Given the description of an element on the screen output the (x, y) to click on. 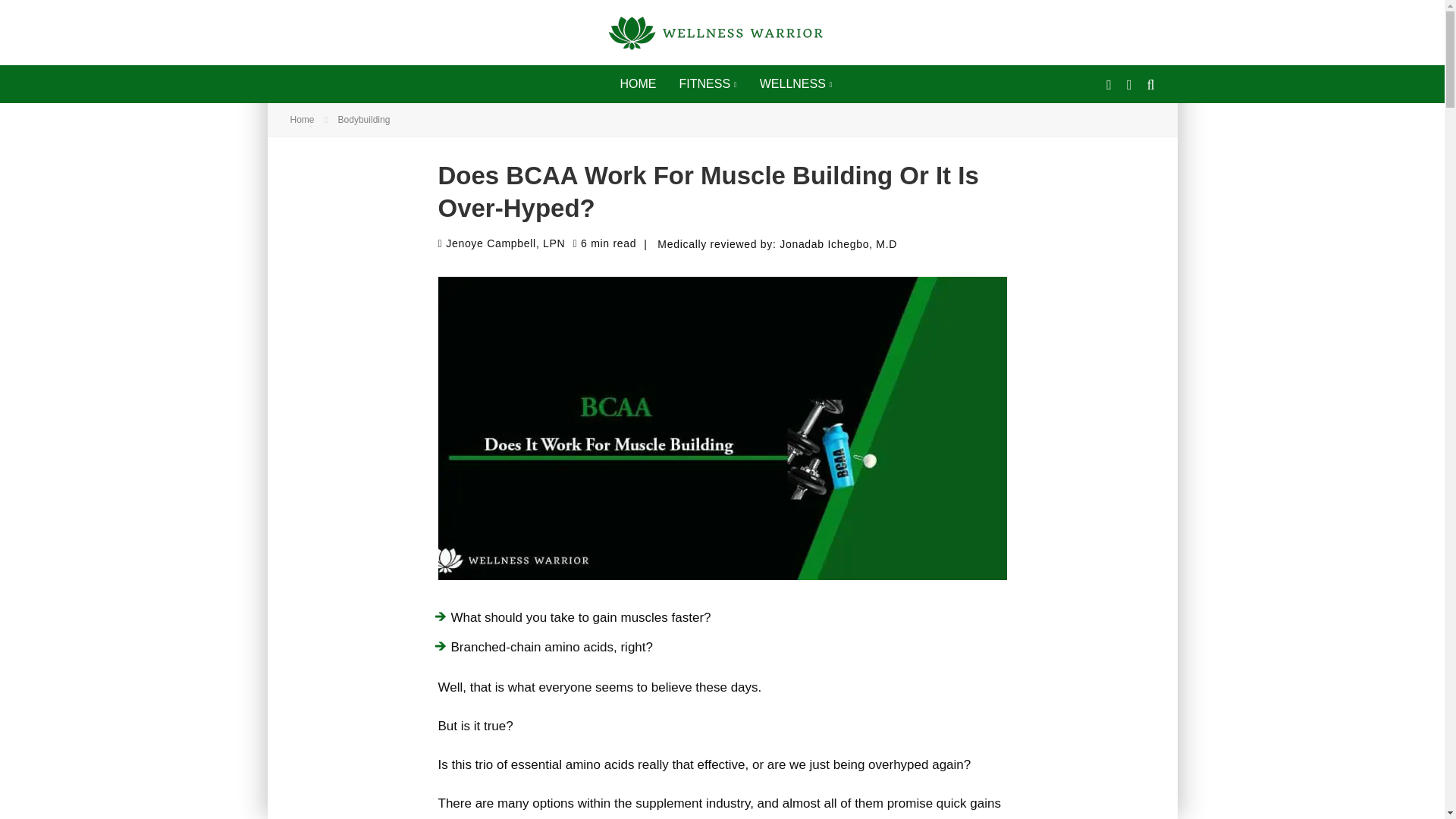
WELLNESS (796, 84)
Home (301, 119)
Jonadab Ichegbo, M.D (837, 244)
FITNESS (707, 84)
HOME (637, 84)
Bodybuilding (363, 119)
Jenoye Campbell, LPN (502, 243)
